Given the description of an element on the screen output the (x, y) to click on. 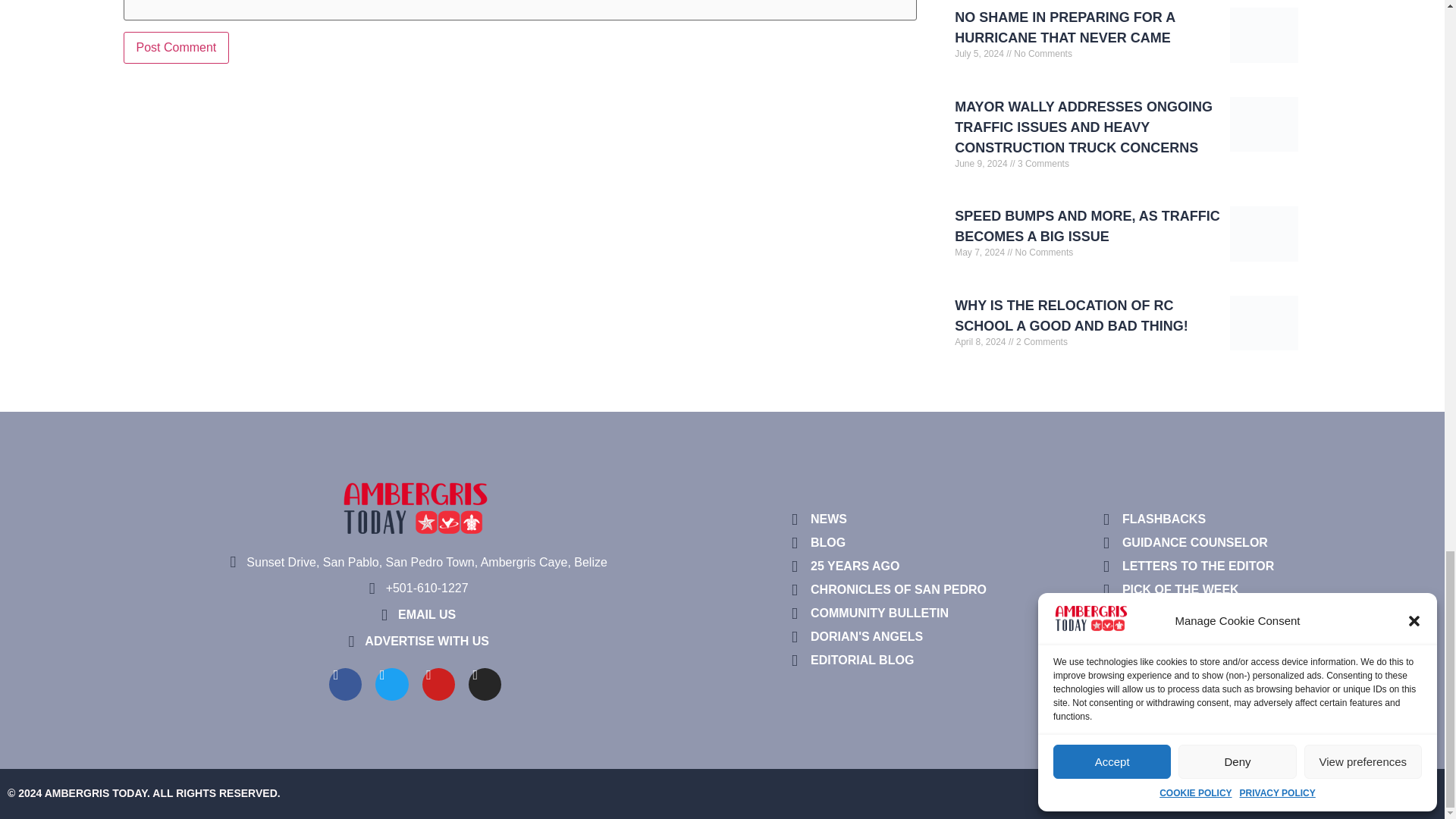
Post Comment (175, 47)
